Given the description of an element on the screen output the (x, y) to click on. 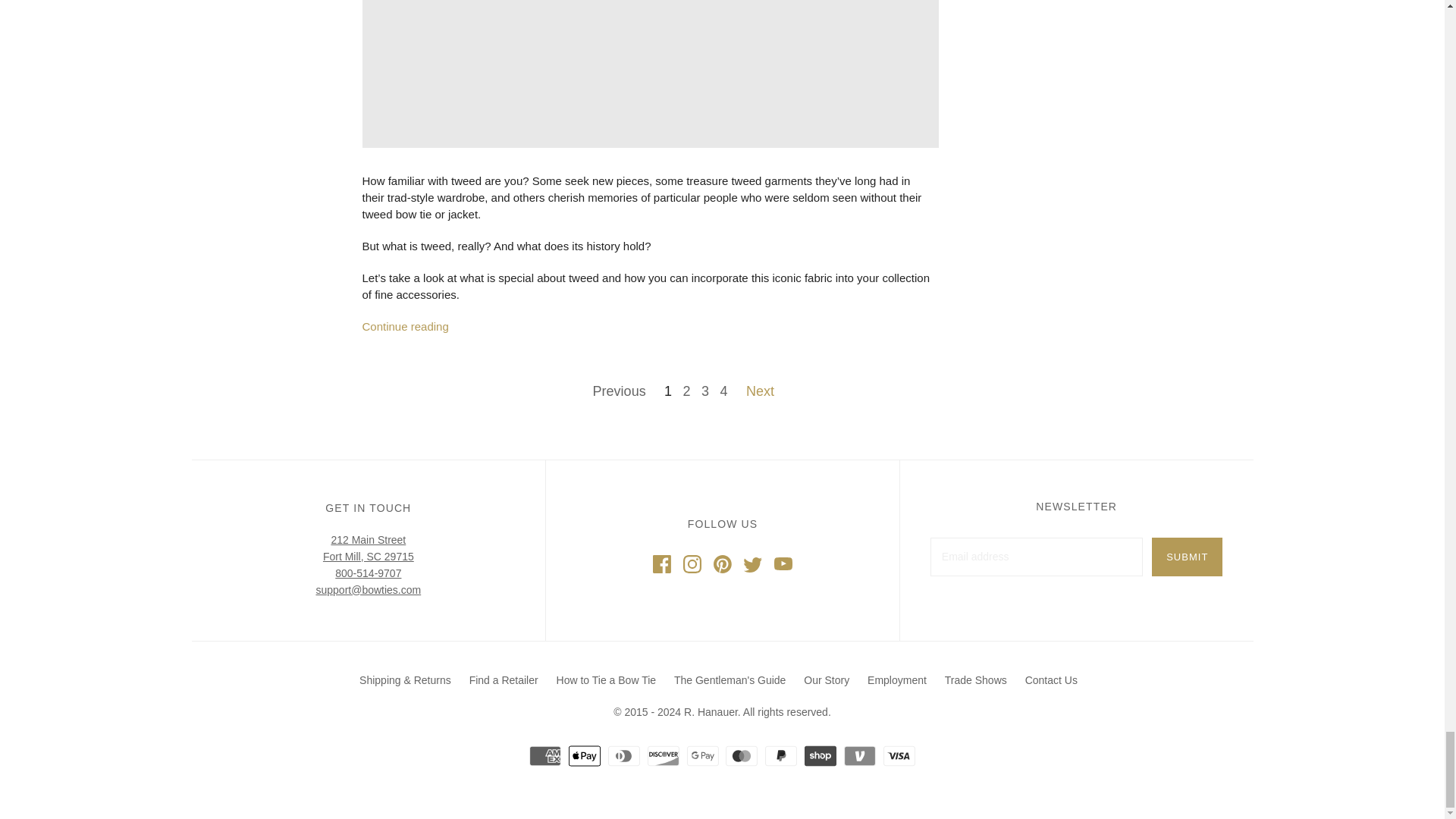
Submit (1187, 556)
American Express (544, 755)
tel:800-514-9707 (367, 572)
Diners Club (624, 755)
Apple Pay (584, 755)
